Given the description of an element on the screen output the (x, y) to click on. 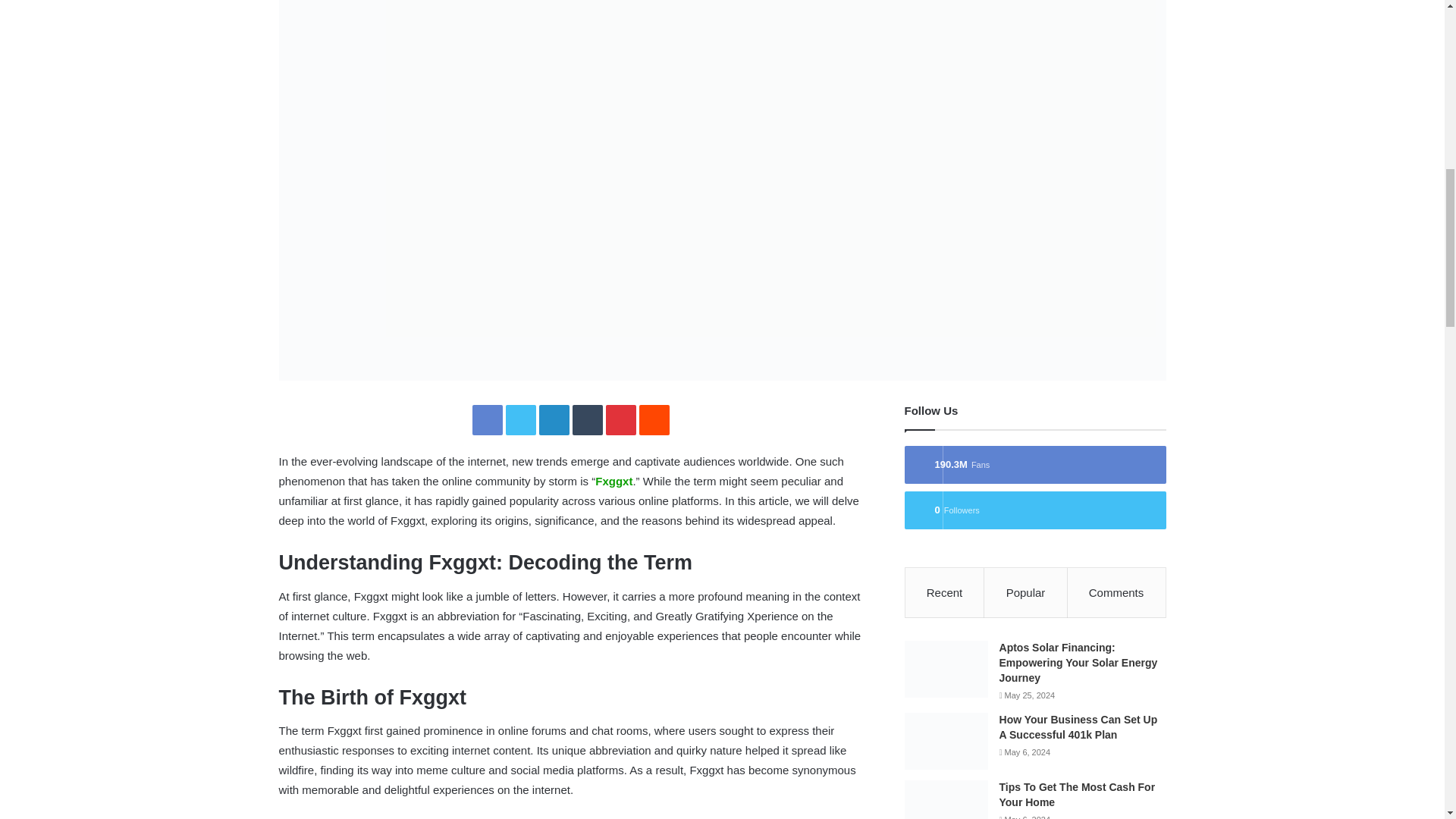
LinkedIn (553, 419)
Reddit (653, 419)
Pinterest (619, 419)
Twitter (520, 419)
Facebook (486, 419)
Fxggxt (613, 481)
Tumblr (587, 419)
